Given the description of an element on the screen output the (x, y) to click on. 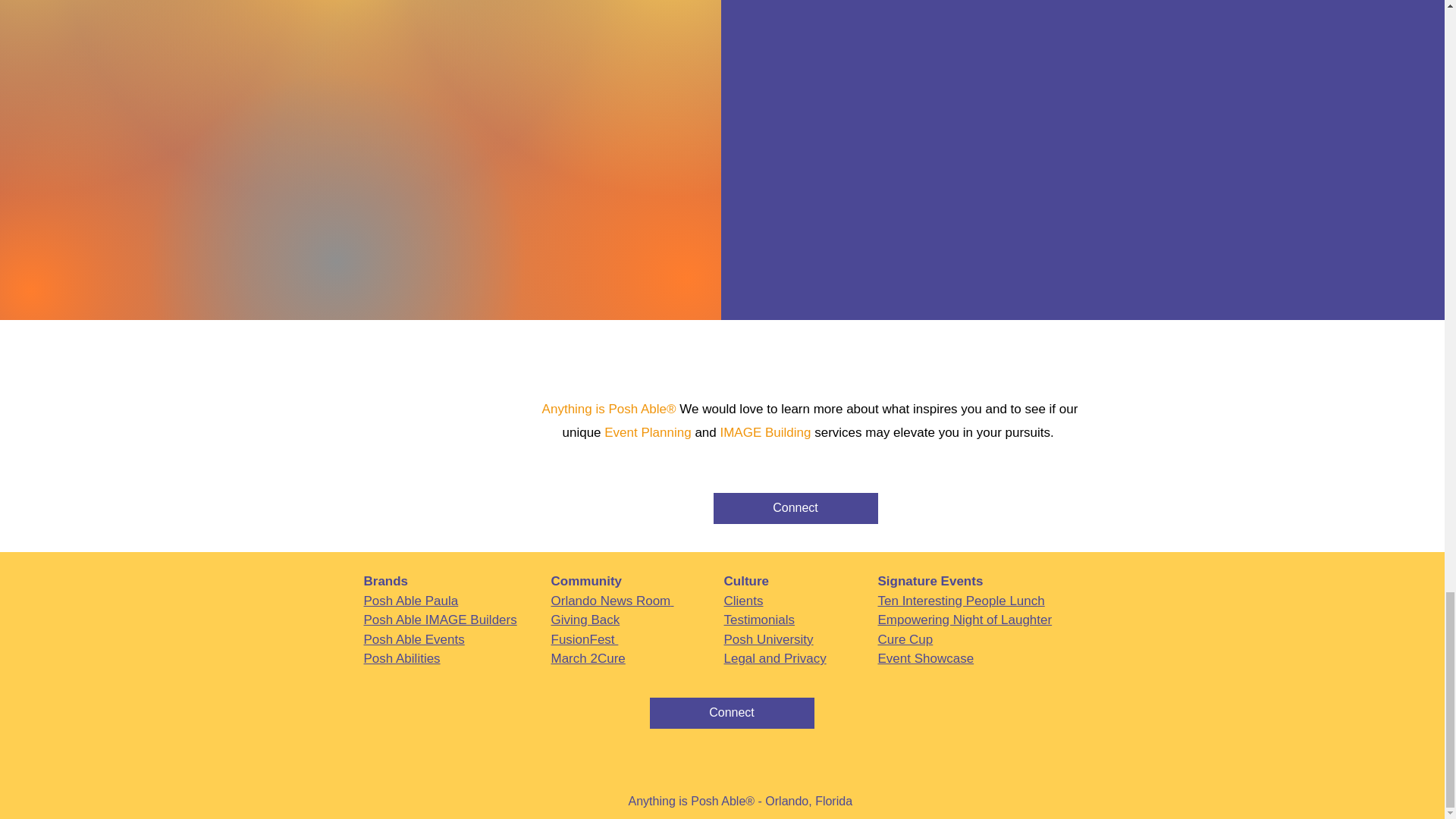
Giving Back (585, 619)
Connect (795, 508)
Posh Able Events (414, 638)
March 2Cure (587, 658)
IMAGE Building (764, 432)
Orlando News Room  (611, 600)
Posh Abilities (402, 658)
Posh Able Paula (411, 600)
FusionFest  (583, 638)
Posh Able IMAGE Builders (440, 619)
Event Planning (647, 432)
